Given the description of an element on the screen output the (x, y) to click on. 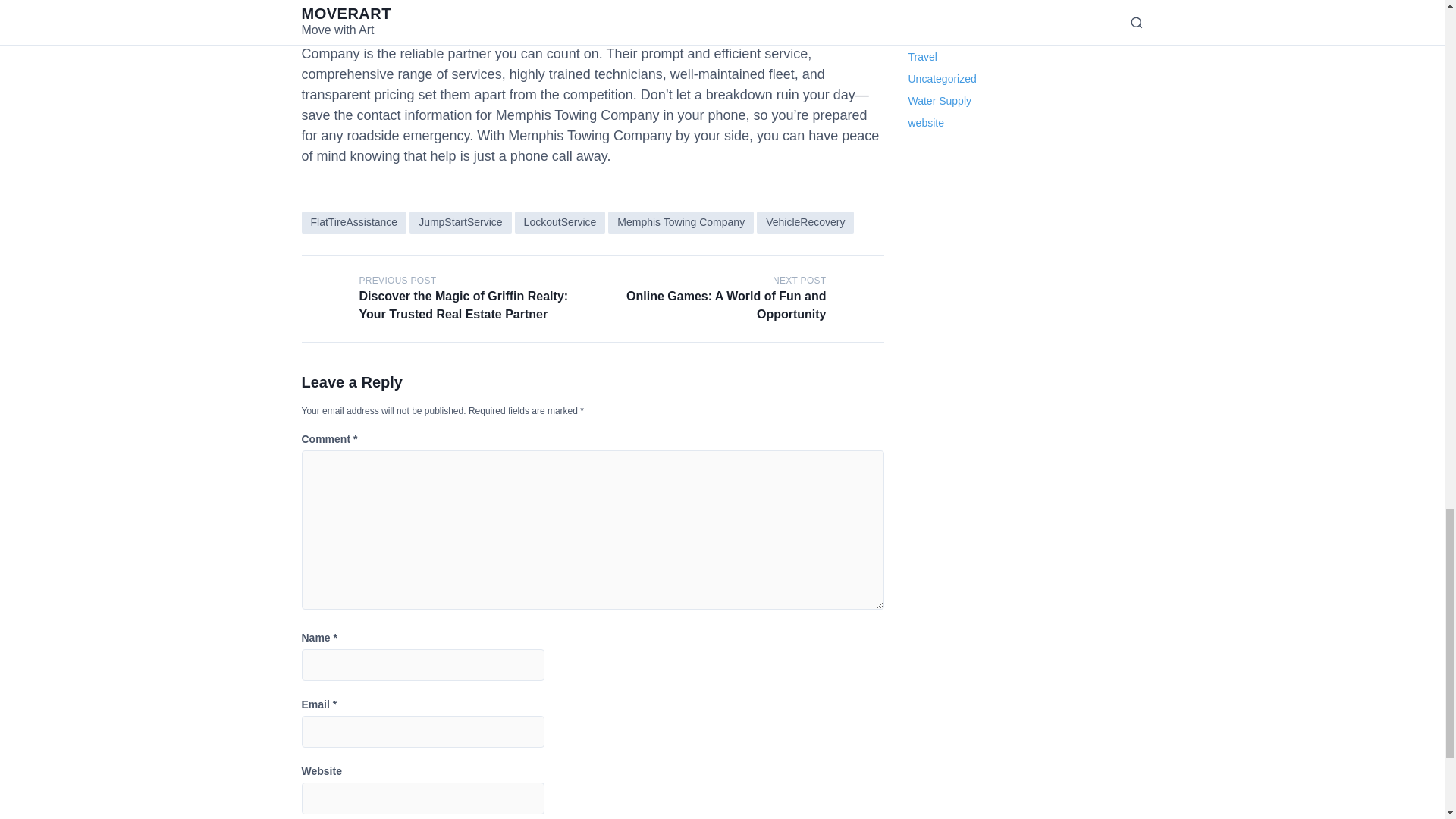
JumpStartService (460, 222)
VehicleRecovery (805, 222)
FlatTireAssistance (354, 222)
Online Games: A World of Fun and Opportunity (859, 298)
LockoutService (560, 222)
towing (527, 32)
Memphis Towing Company (681, 222)
Online Games: A World of Fun and Opportunity (725, 305)
